Given the description of an element on the screen output the (x, y) to click on. 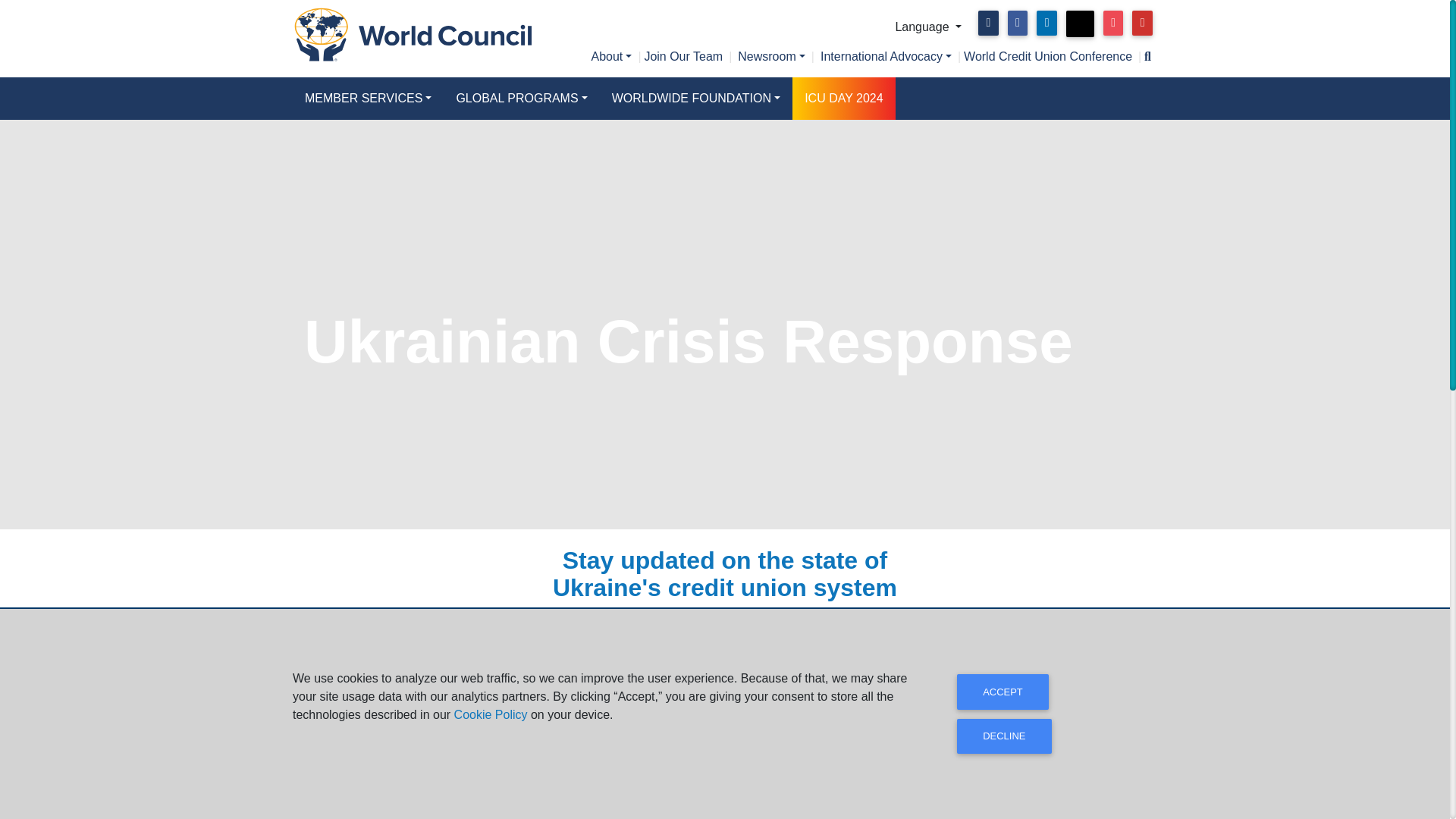
MEMBER SERVICES (368, 97)
World Credit Union Conference (1048, 56)
International Advocacy (885, 56)
Newsroom (771, 56)
Language (928, 27)
About (611, 56)
Join Our Team (683, 56)
